Given the description of an element on the screen output the (x, y) to click on. 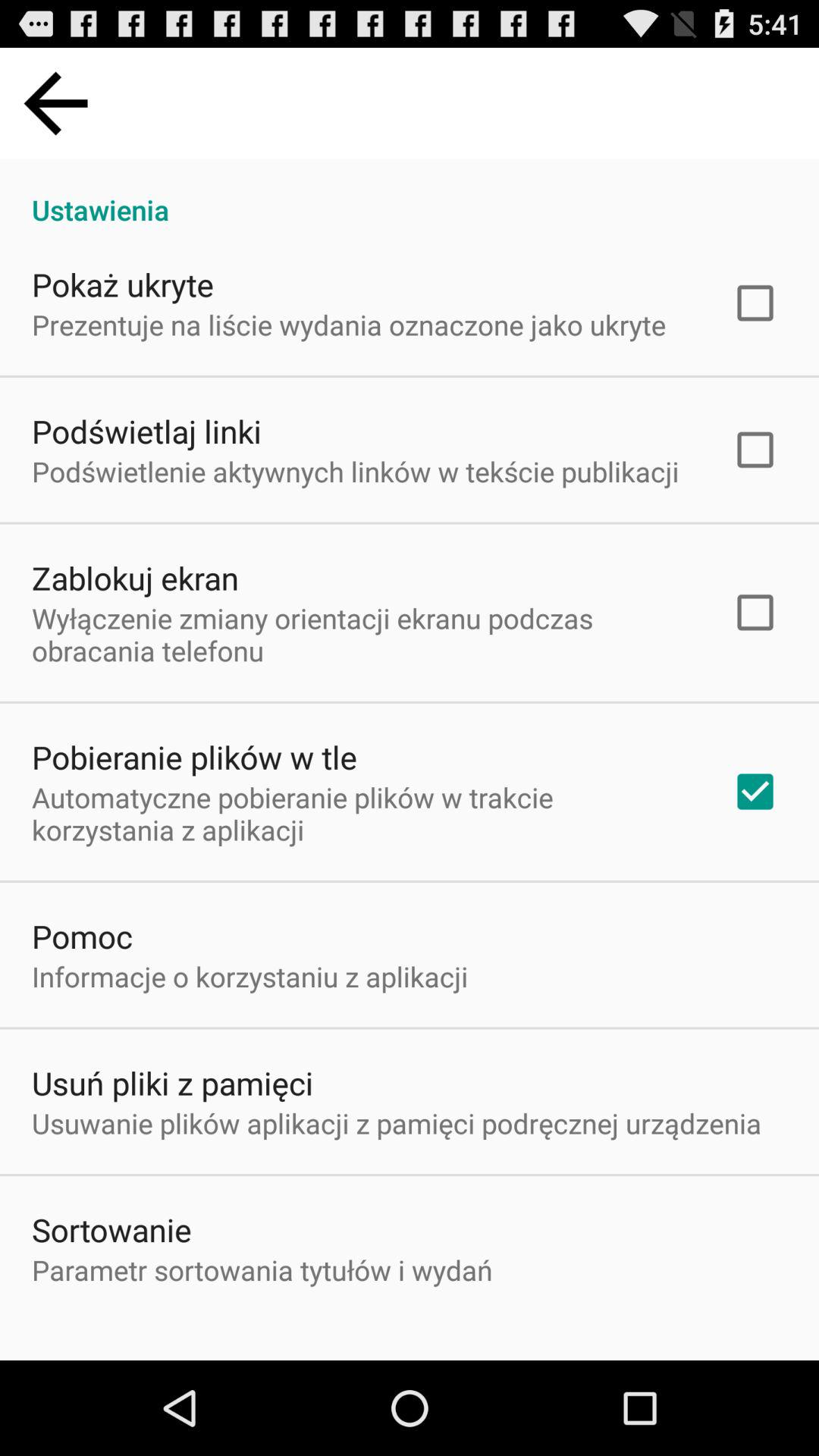
choose item above sortowanie item (396, 1123)
